Given the description of an element on the screen output the (x, y) to click on. 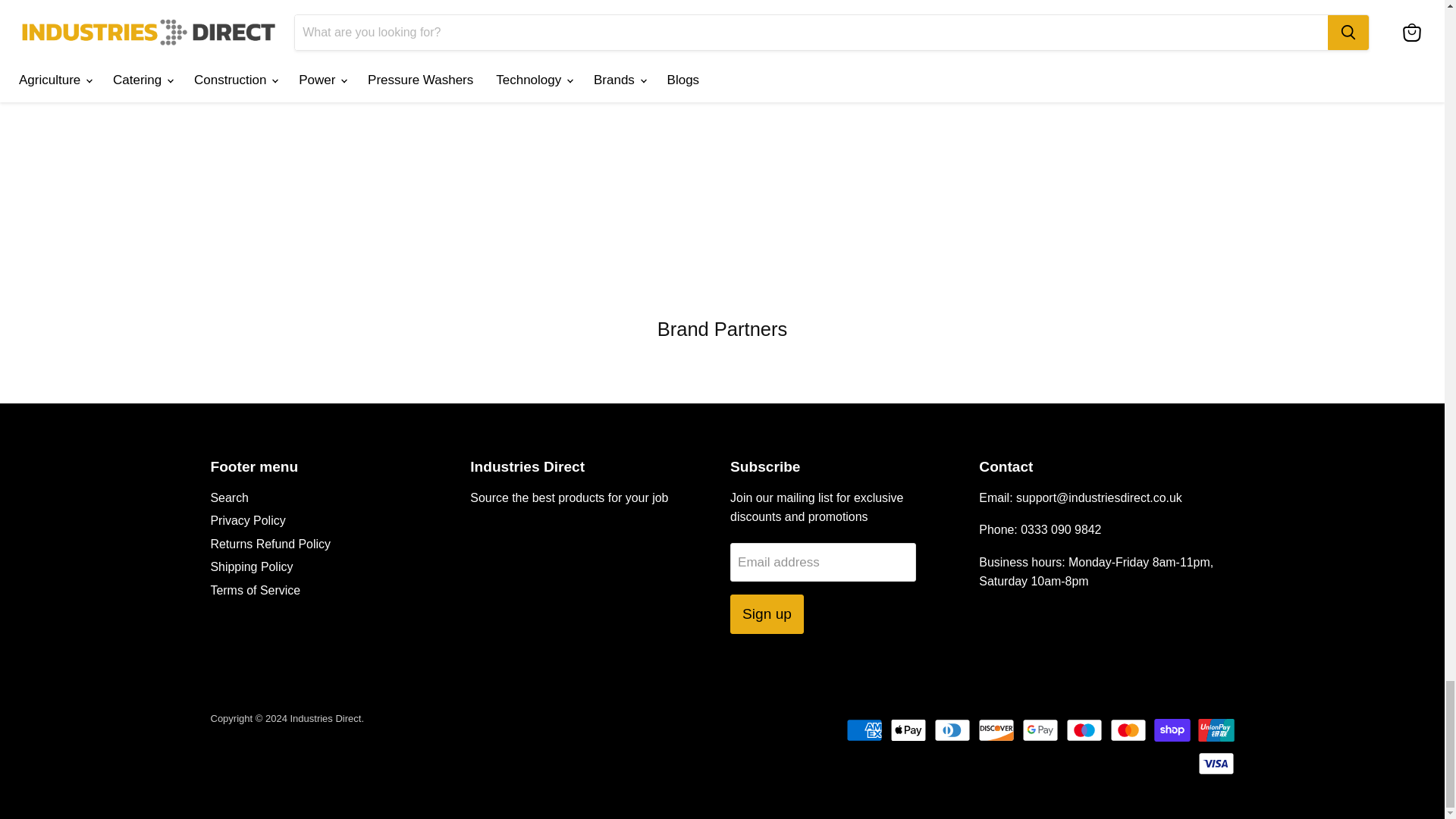
Apple Pay (907, 730)
American Express (863, 730)
Google Pay (1040, 730)
Diners Club (952, 730)
Discover (996, 730)
